Given the description of an element on the screen output the (x, y) to click on. 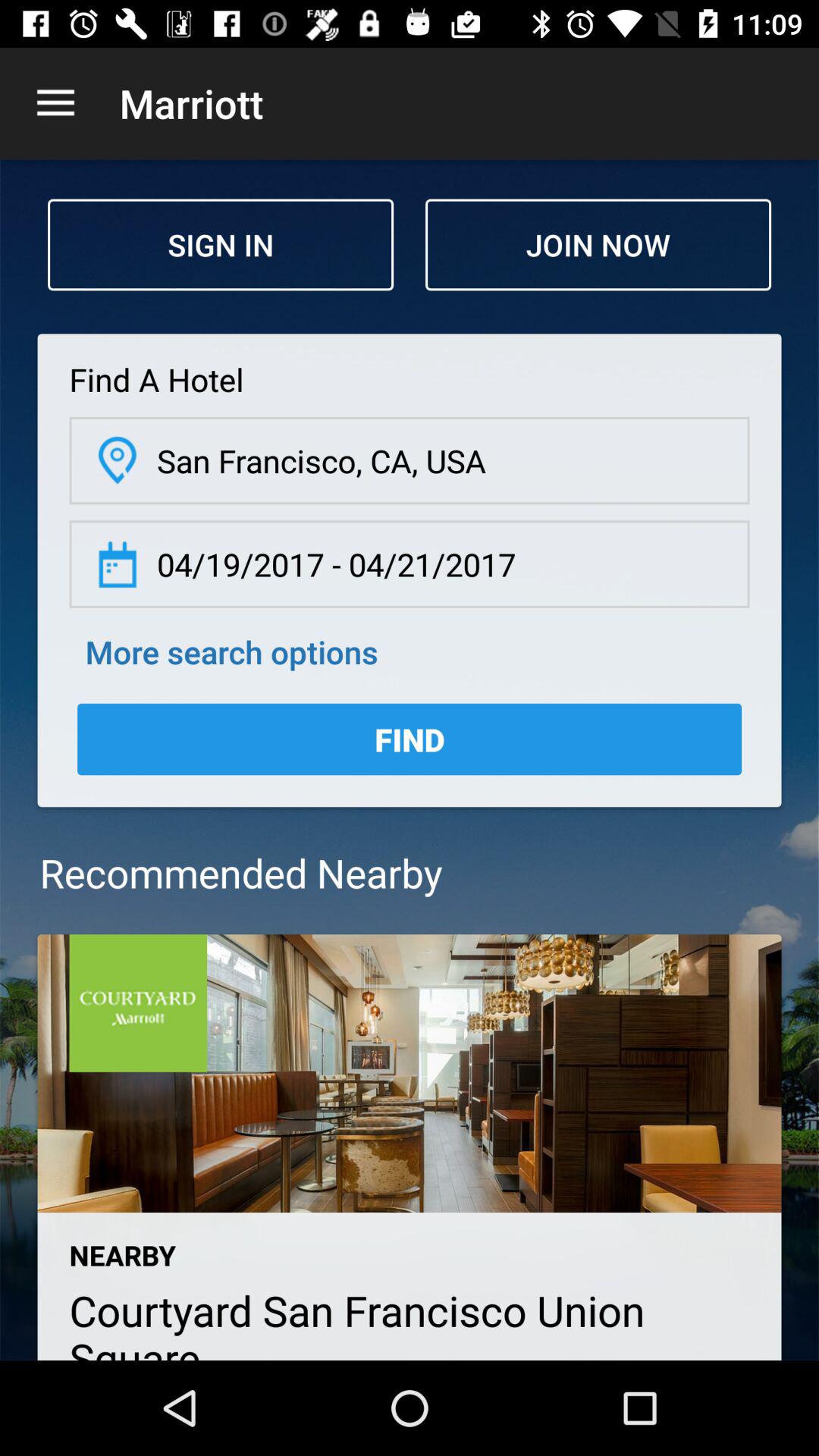
press the icon above find a hotel icon (220, 244)
